Given the description of an element on the screen output the (x, y) to click on. 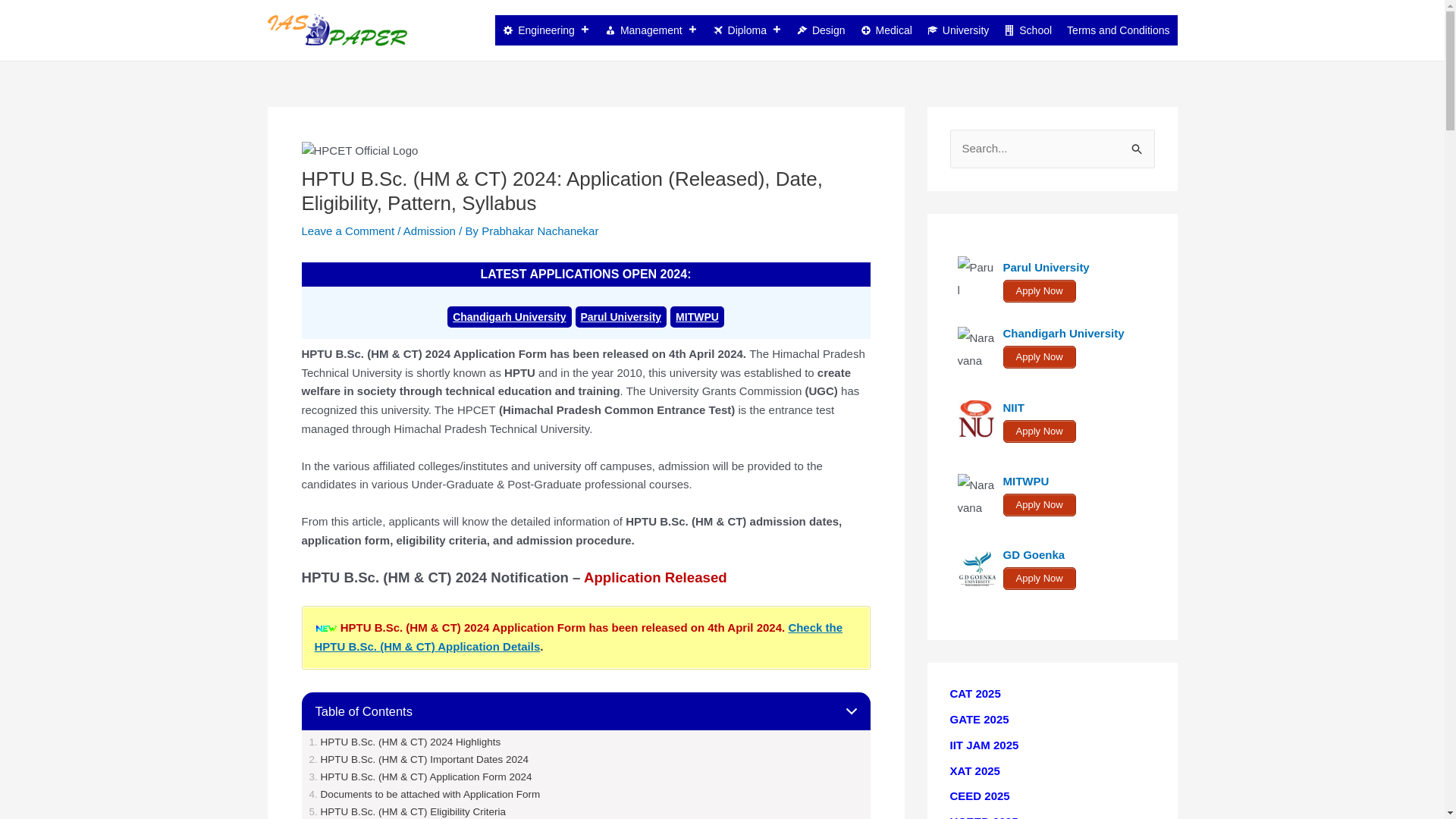
Engineering (545, 30)
Search (1137, 144)
Documents to be attached with Application Form (424, 794)
View all posts by Prabhakar Nachanekar (539, 230)
Search (1137, 144)
